Given the description of an element on the screen output the (x, y) to click on. 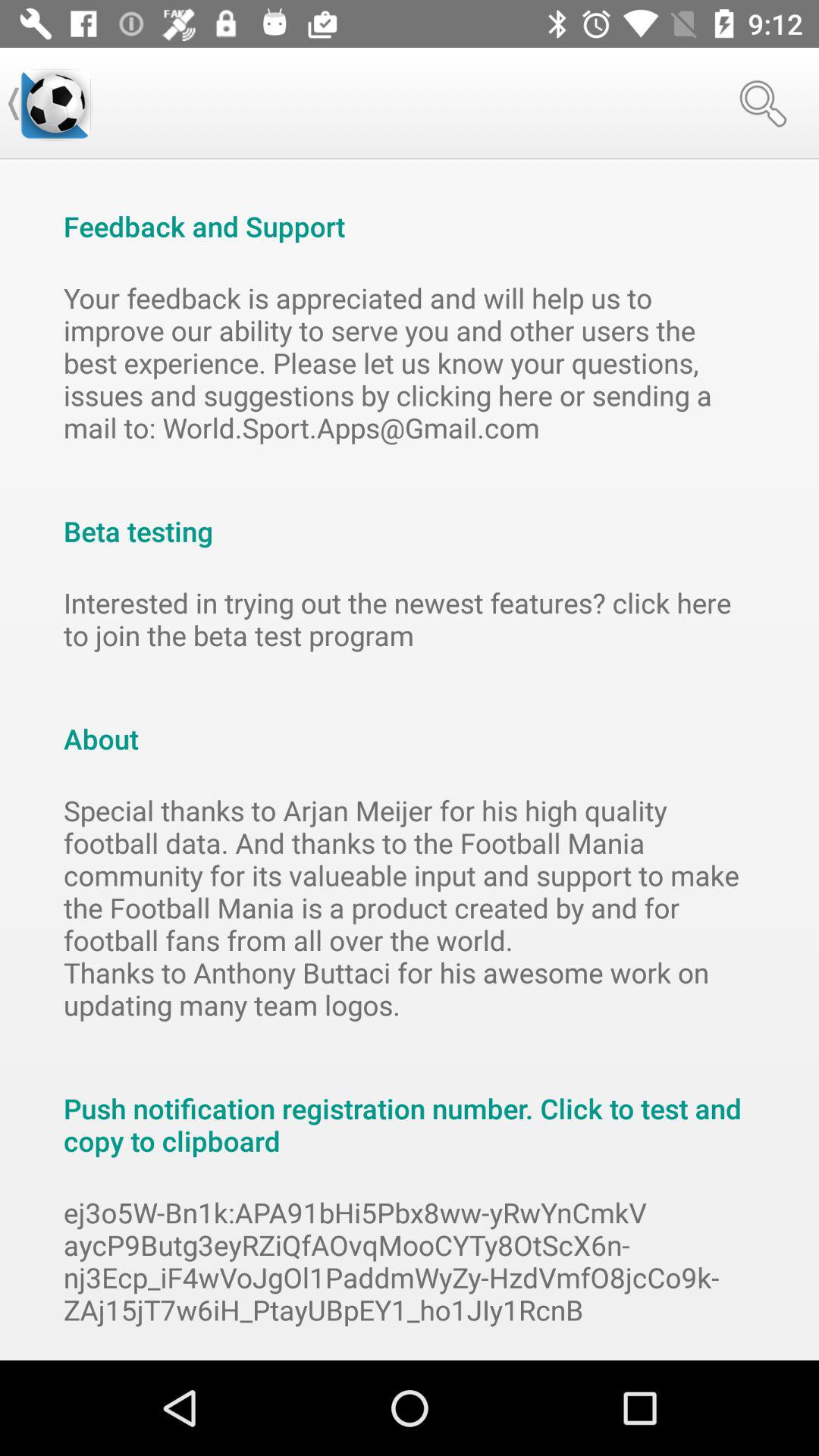
press the icon below beta testing (409, 619)
